Given the description of an element on the screen output the (x, y) to click on. 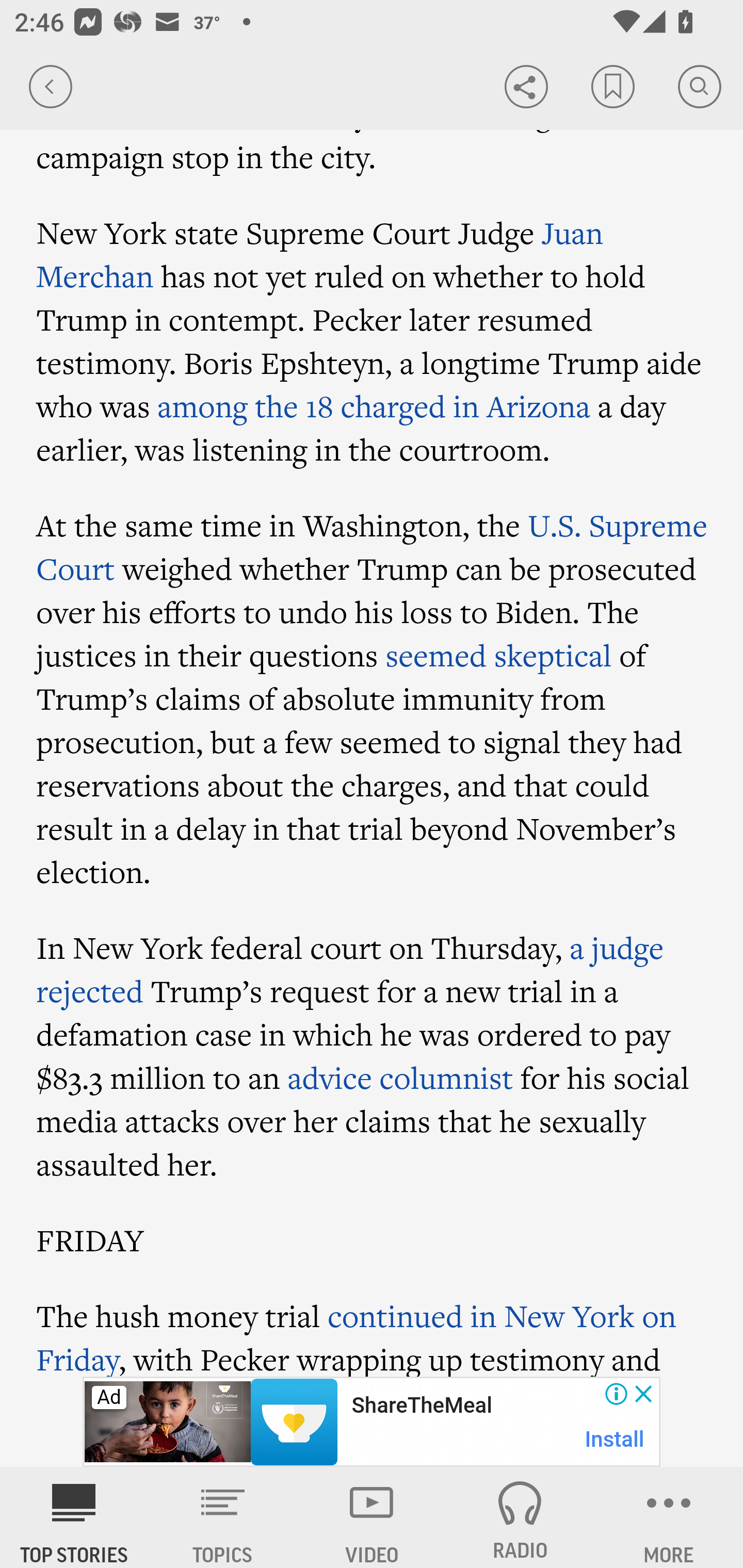
Juan Merchan (320, 254)
among the 18 charged in Arizona (374, 406)
U.S. Supreme Court (372, 546)
seemed skeptical (498, 655)
a judge rejected (350, 968)
advice columnist (400, 1077)
continued in New York on Friday (356, 1334)
ShareTheMeal (420, 1405)
Install (614, 1438)
AP News TOP STORIES (74, 1517)
TOPICS (222, 1517)
VIDEO (371, 1517)
RADIO (519, 1517)
MORE (668, 1517)
